Given the description of an element on the screen output the (x, y) to click on. 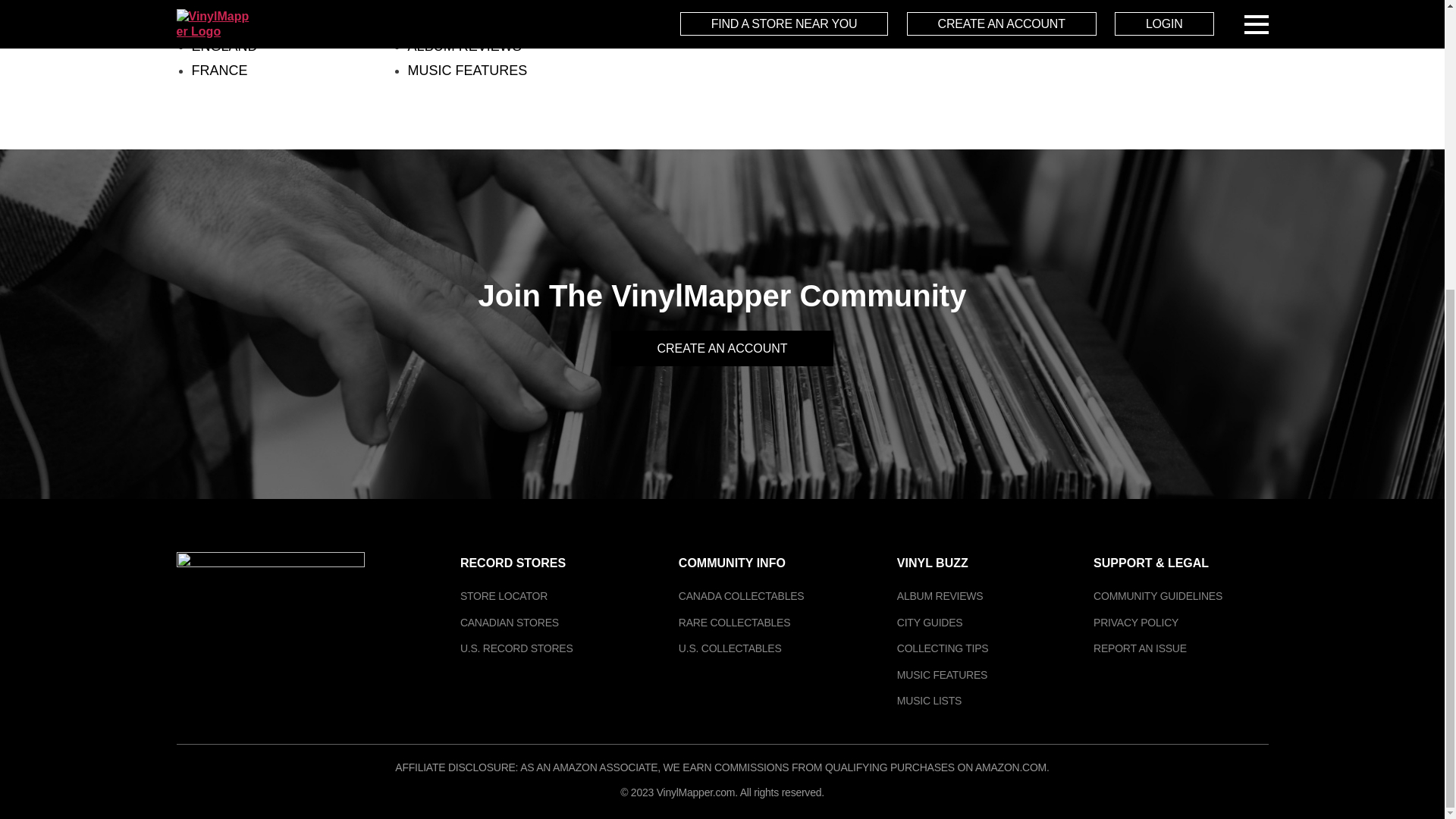
YouTube (271, 666)
Threads (315, 666)
CANADA (218, 2)
Instagram (226, 666)
MEXICO (217, 20)
